Given the description of an element on the screen output the (x, y) to click on. 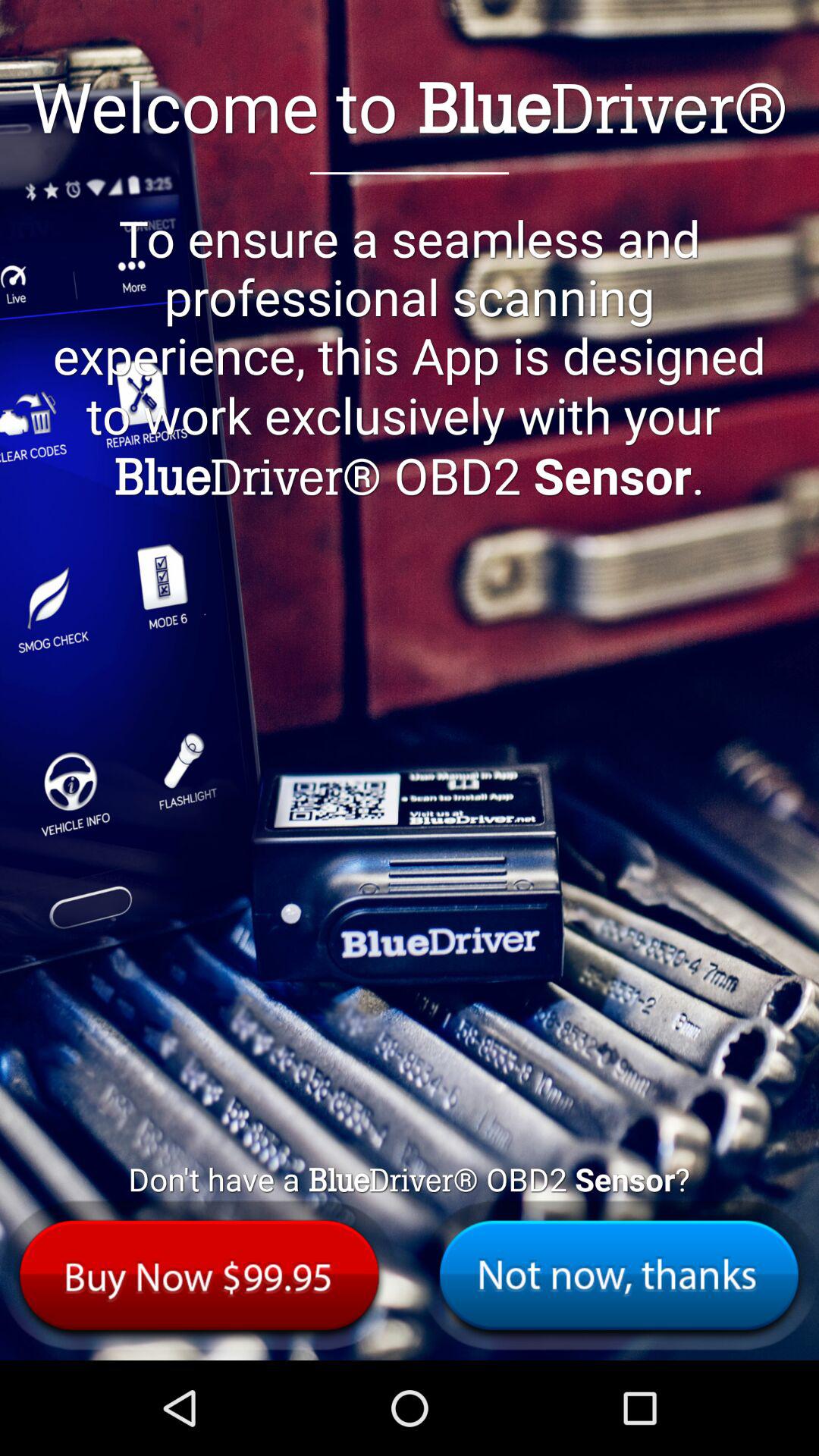
not now thanks (619, 1275)
